Given the description of an element on the screen output the (x, y) to click on. 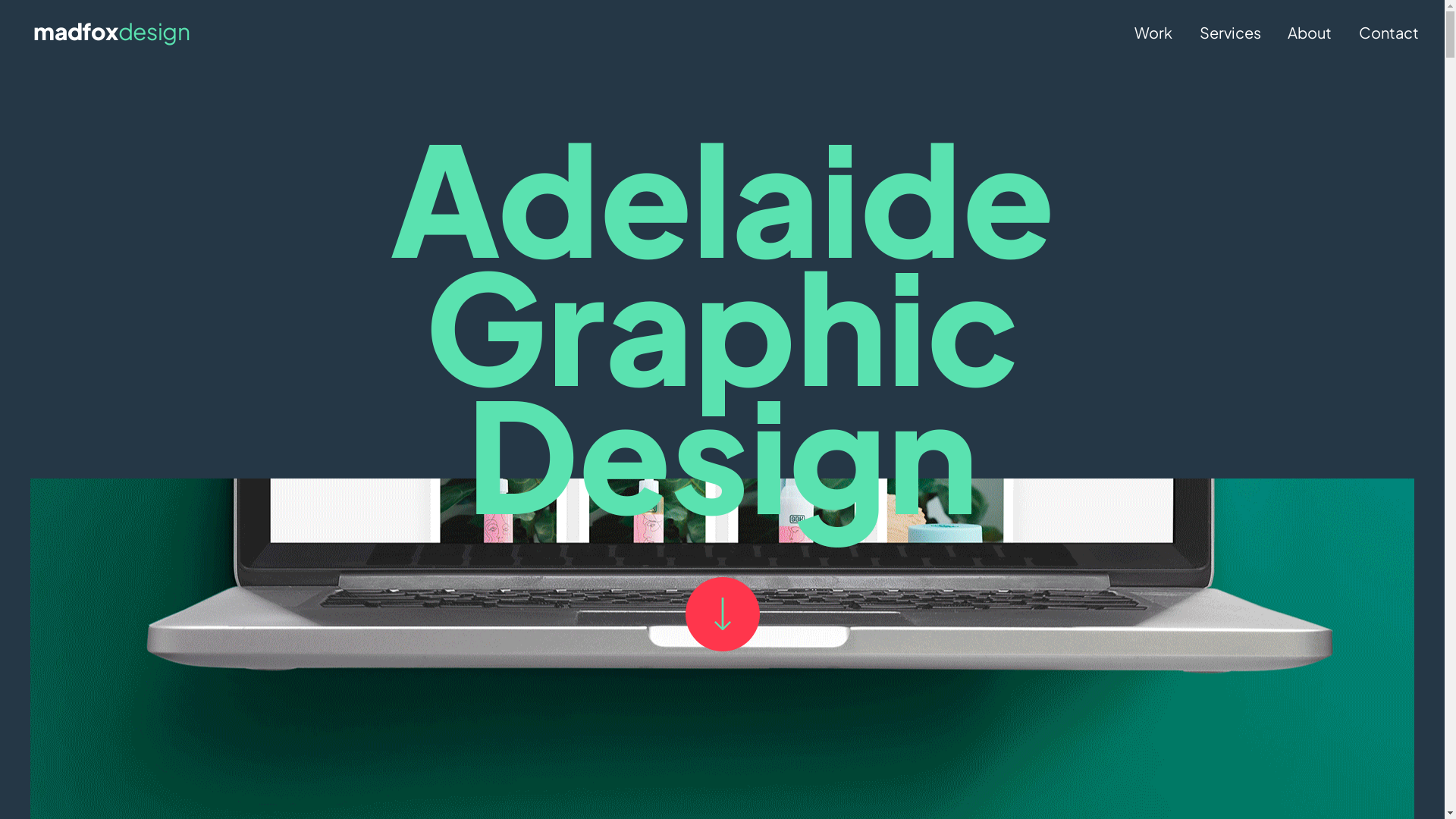
About Element type: text (1309, 32)
madfoxdesign Element type: text (111, 31)
Work Element type: text (1153, 32)
Contact Element type: text (1388, 32)
Services Element type: text (1230, 32)
